Given the description of an element on the screen output the (x, y) to click on. 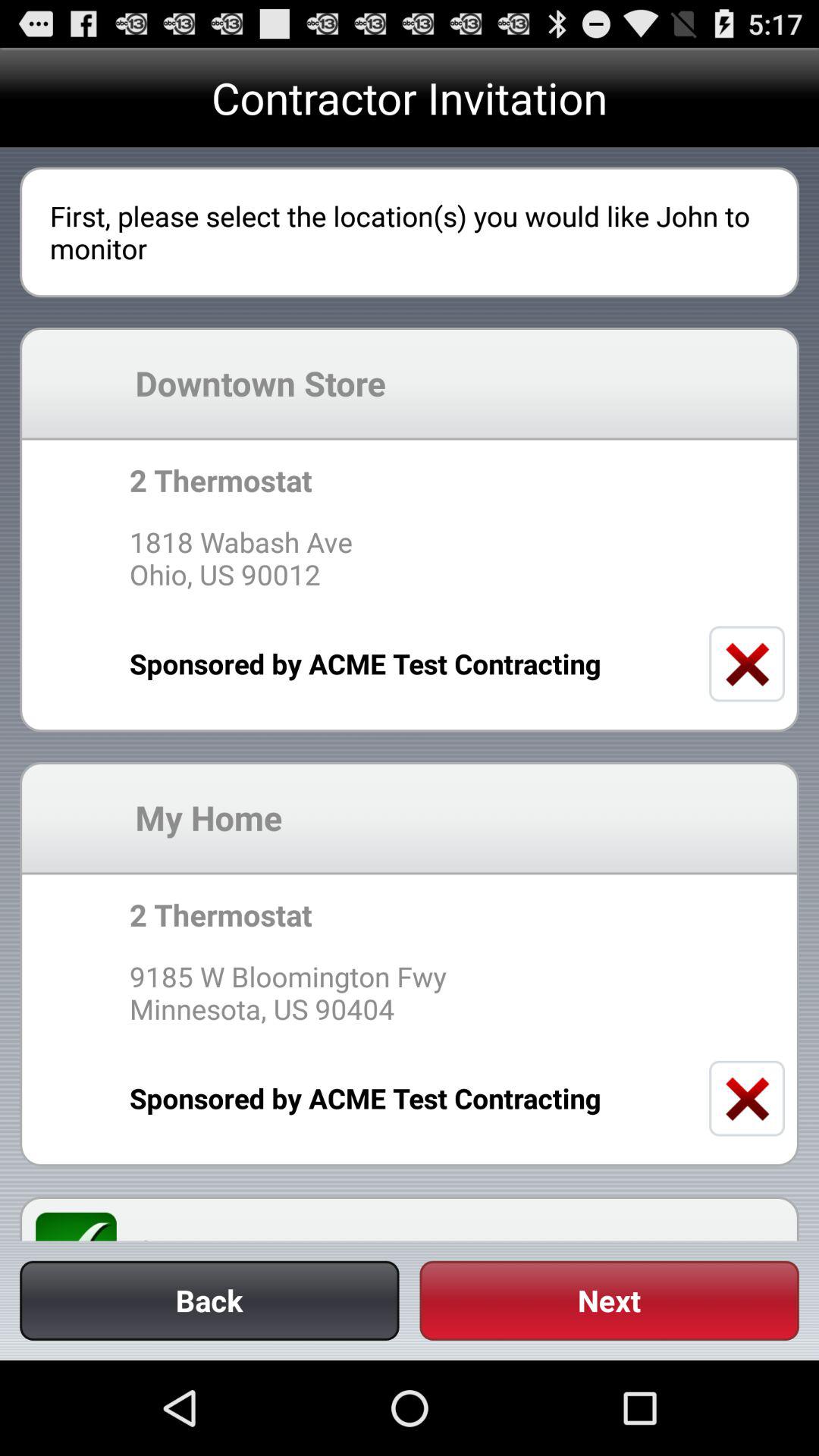
jump until the 1818 wabash ave (409, 558)
